Given the description of an element on the screen output the (x, y) to click on. 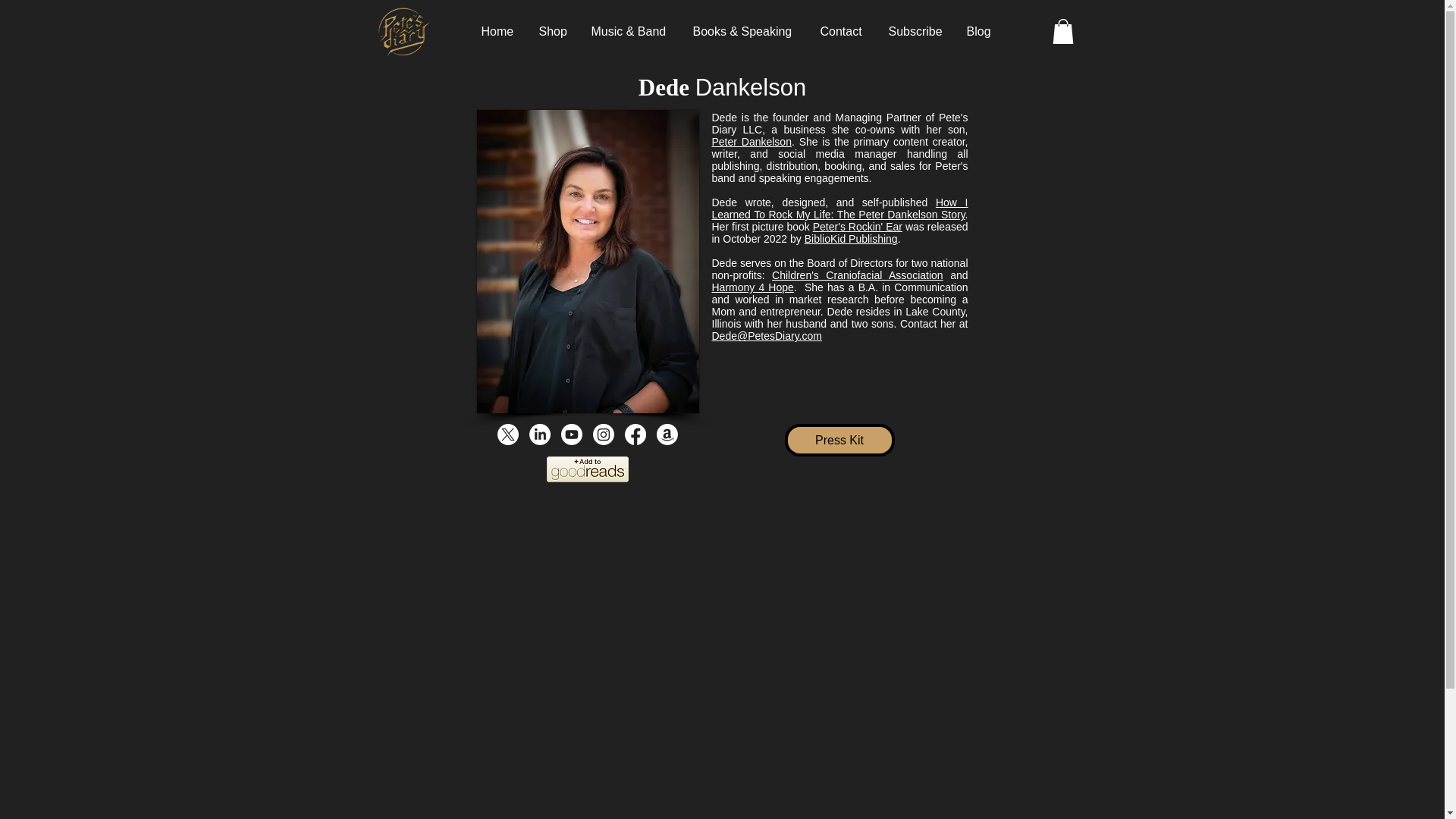
Shop (553, 31)
Children's Craniofacial Association (857, 275)
BiblioKid Publishing (851, 238)
Home (498, 31)
Press Kit (838, 440)
Subscribe (914, 31)
Peter's Rockin' Ear (857, 226)
Contact (842, 31)
Peter Dankelson (750, 141)
How I Learned To Rock My Life: The Peter Dankelson Story (839, 208)
Harmony 4 Hope (752, 287)
Blog (979, 31)
